Given the description of an element on the screen output the (x, y) to click on. 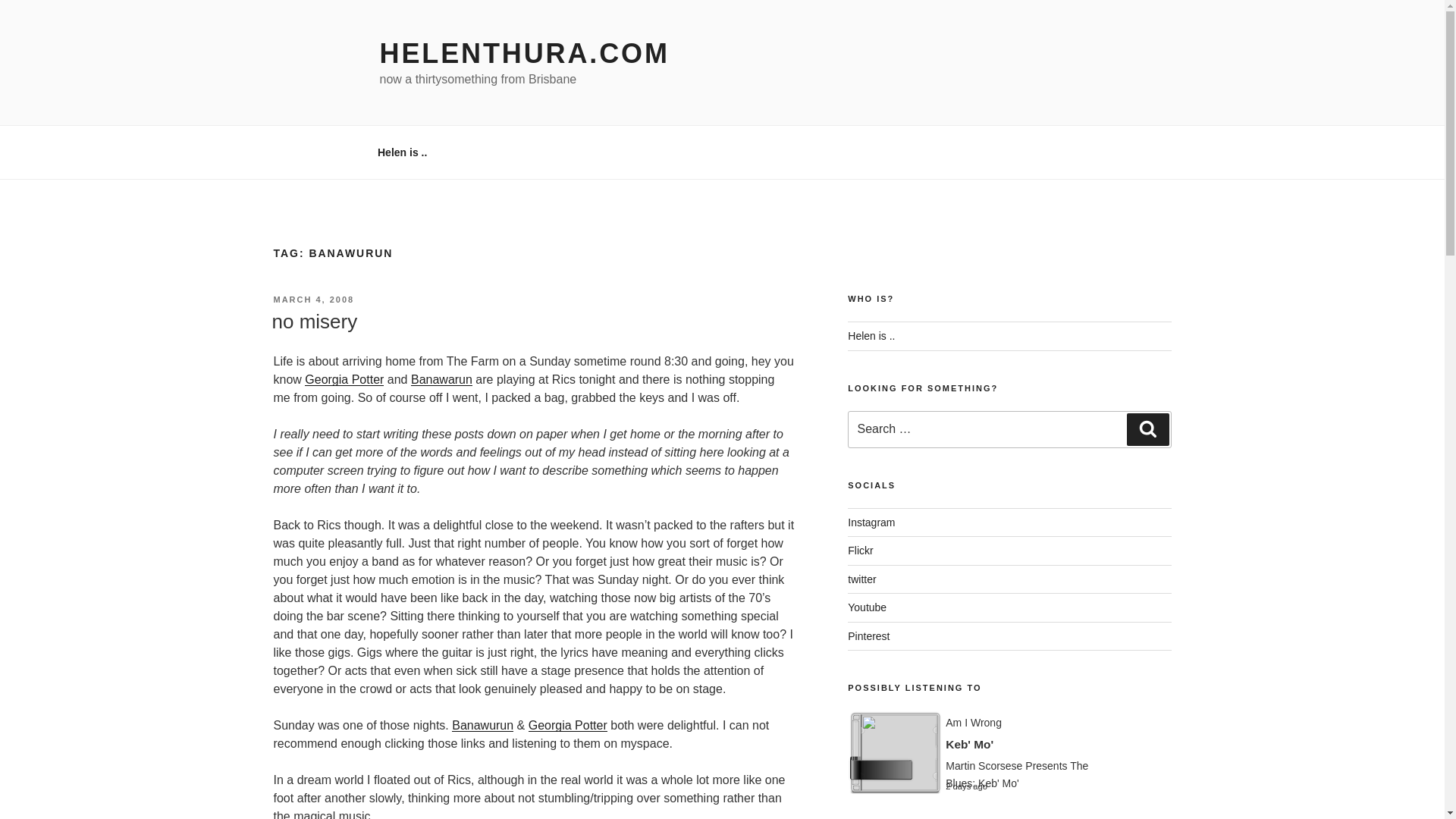
Search (1147, 429)
MARCH 4, 2008 (313, 298)
Georgia Potter (567, 725)
Helen is .. (401, 151)
Flickr (859, 550)
Banawurun (482, 725)
HELENTHURA.COM (523, 52)
Georgia Potter (344, 379)
twitter (861, 579)
Pinterest (868, 635)
Youtube (866, 607)
Instagram (871, 522)
Helen is .. (871, 336)
Banawarun (440, 379)
